Given the description of an element on the screen output the (x, y) to click on. 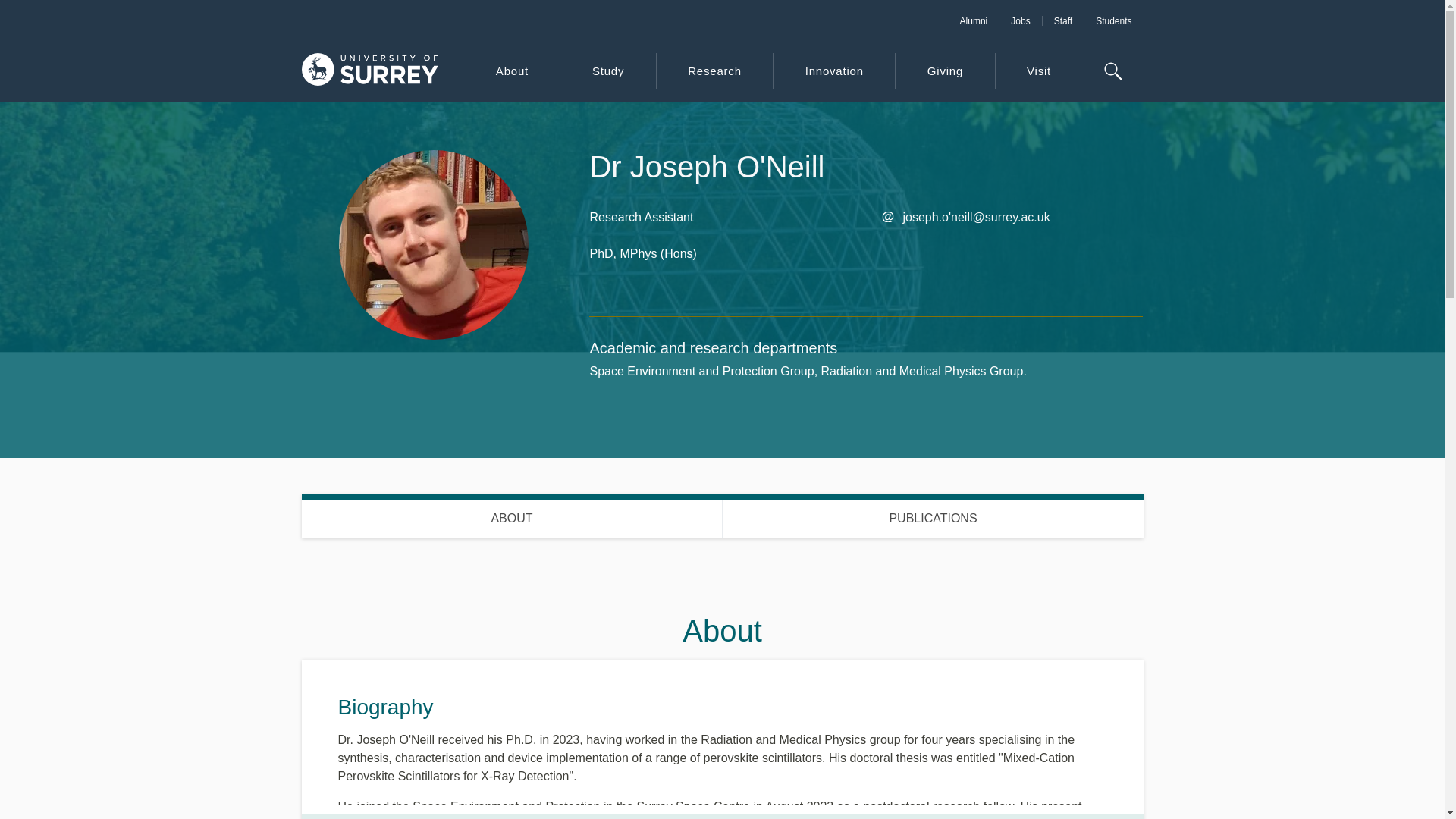
Home (369, 71)
About (511, 71)
Alumni (973, 20)
Students (721, 516)
Staff (1113, 20)
Jobs (1062, 20)
